Given the description of an element on the screen output the (x, y) to click on. 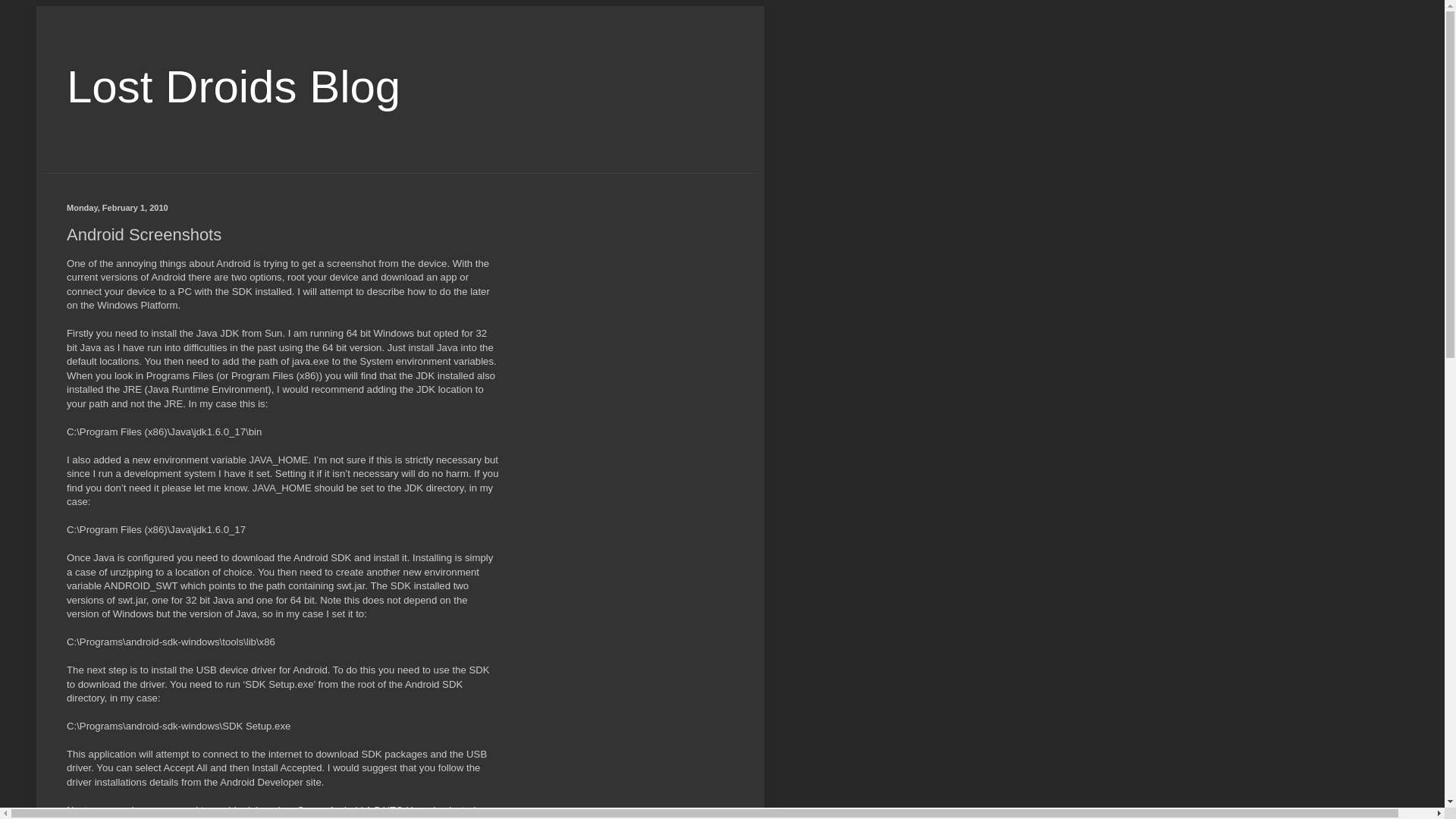
Lost Droids Blog (233, 86)
